Given the description of an element on the screen output the (x, y) to click on. 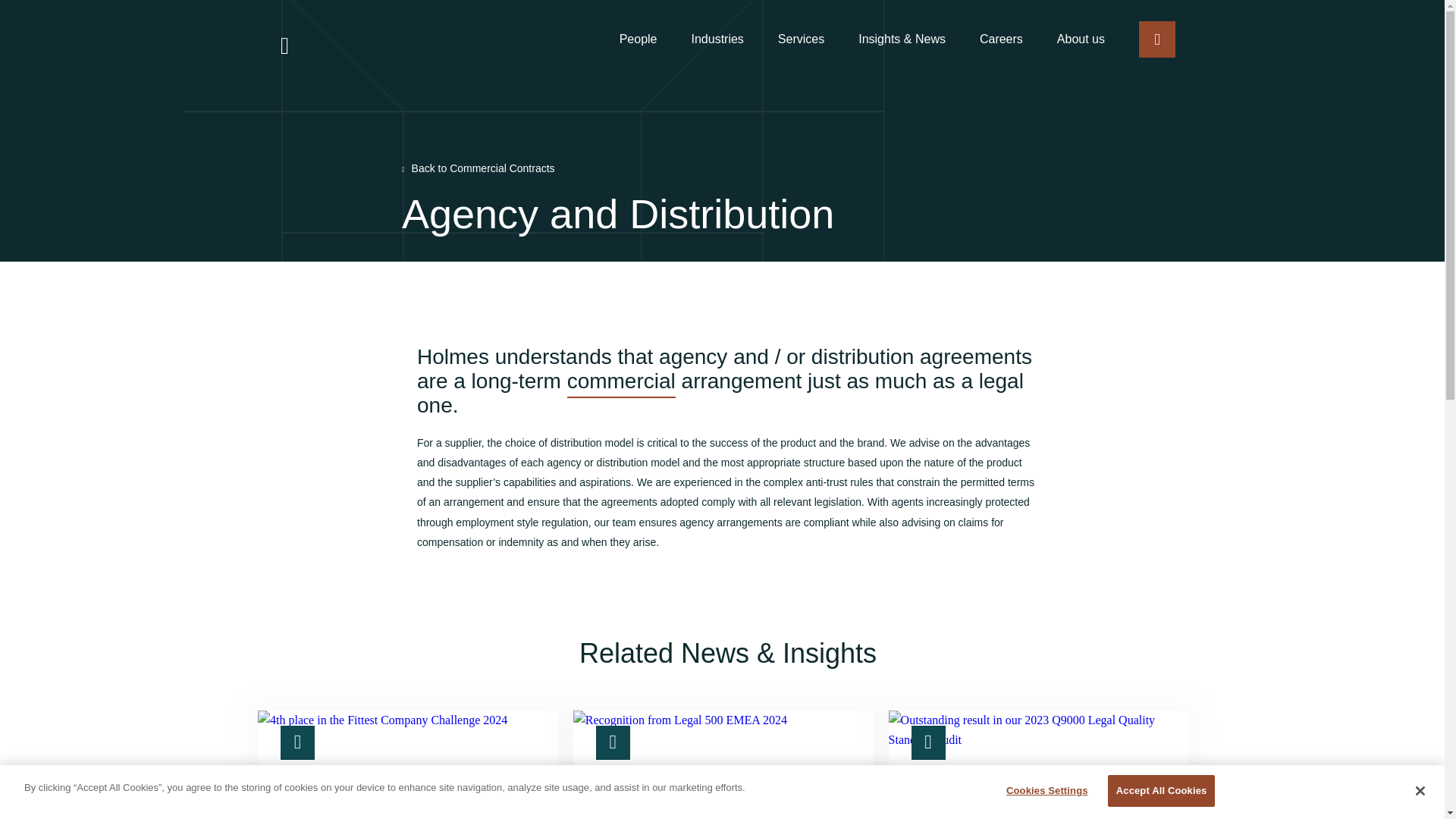
People (639, 39)
Services (800, 39)
Industries (716, 39)
